Given the description of an element on the screen output the (x, y) to click on. 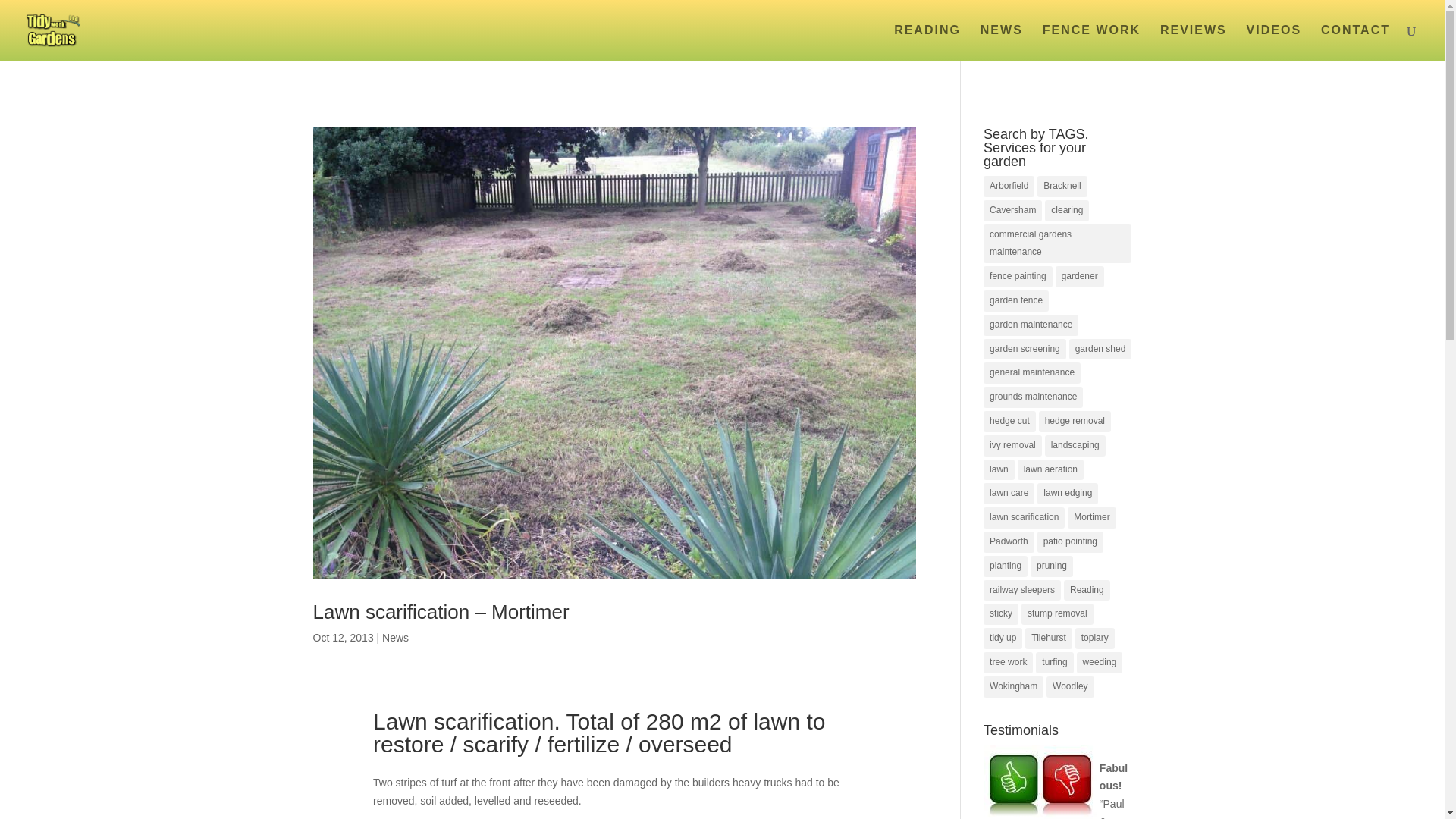
garden screening (1024, 349)
commercial gardens maintenance (1057, 243)
FENCE WORK (1091, 42)
CONTACT (1355, 42)
gardening company news (1001, 42)
gardener (1079, 276)
Arborfield (1008, 186)
News (395, 637)
clearing (1067, 210)
general maintenance (1032, 373)
